Given the description of an element on the screen output the (x, y) to click on. 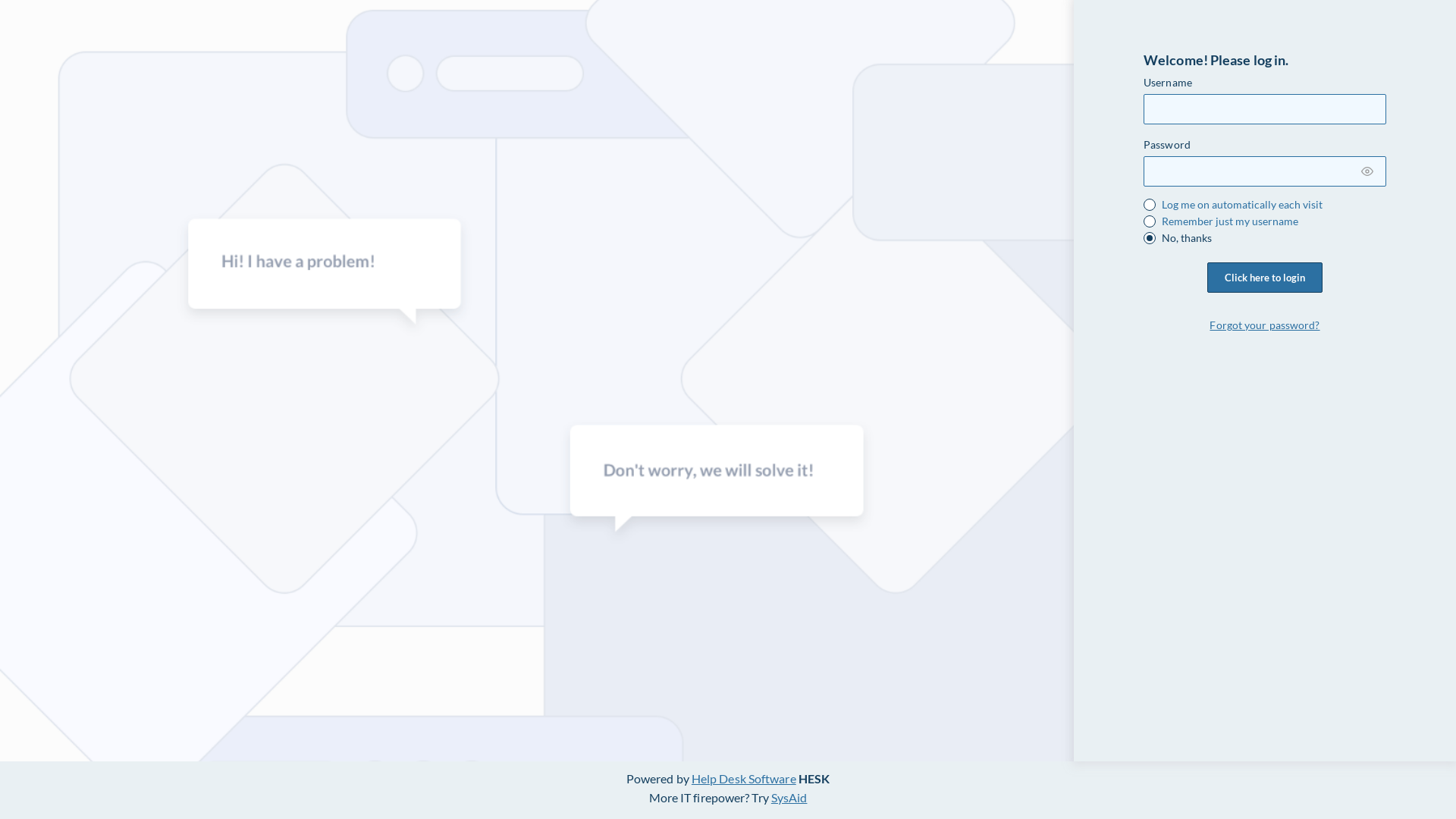
Forgot your password? Element type: text (1264, 324)
Help Desk Software Element type: text (743, 778)
SysAid Element type: text (789, 797)
Click here to login Element type: text (1264, 277)
